Given the description of an element on the screen output the (x, y) to click on. 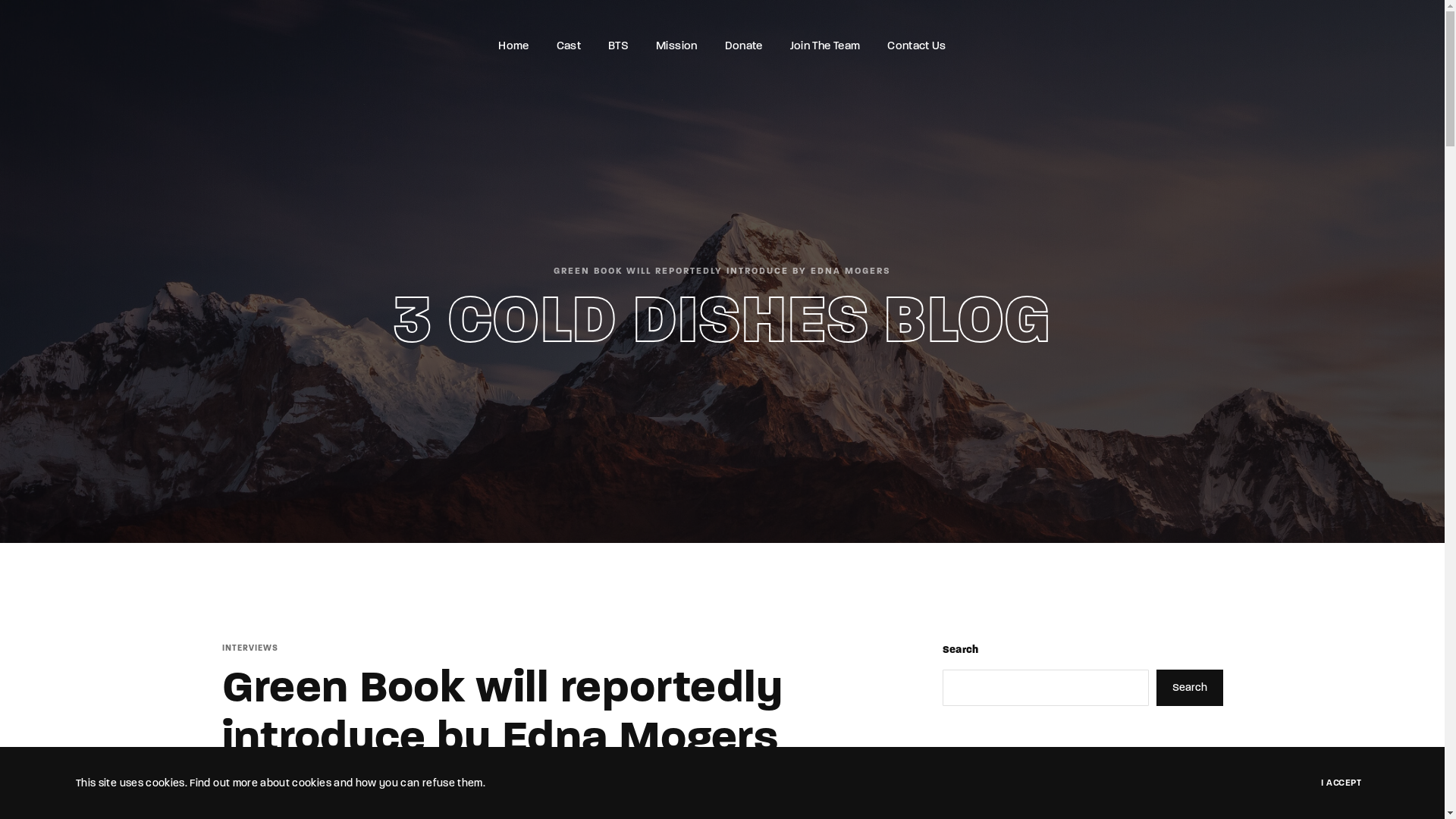
I ACCEPT Element type: text (1341, 782)
INTERVIEWS Element type: text (249, 648)
Home Element type: text (513, 45)
asurf Element type: text (248, 785)
Mission Element type: text (676, 45)
Join The Team Element type: text (825, 45)
Contact Us Element type: text (916, 45)
Search Element type: text (1188, 687)
Donate Element type: text (743, 45)
0 Comment Element type: text (367, 785)
Cast Element type: text (568, 45)
BTS Element type: text (618, 45)
